Given the description of an element on the screen output the (x, y) to click on. 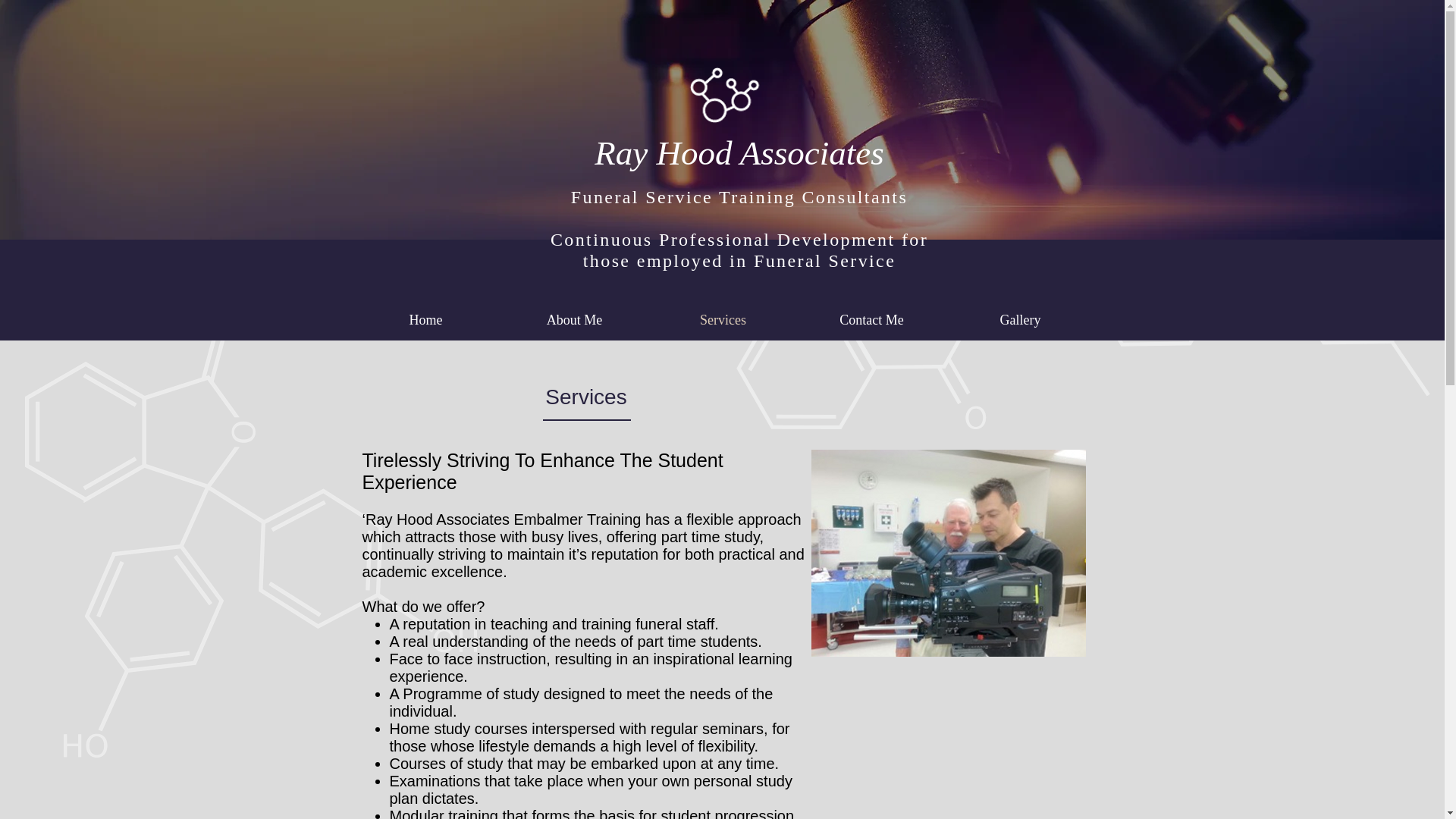
Ray Hood Associates (738, 152)
Services (723, 319)
Contact Me (871, 319)
Home (426, 319)
About Me (574, 319)
Funeral Service Training Consultants (738, 197)
Gallery (1020, 319)
